Given the description of an element on the screen output the (x, y) to click on. 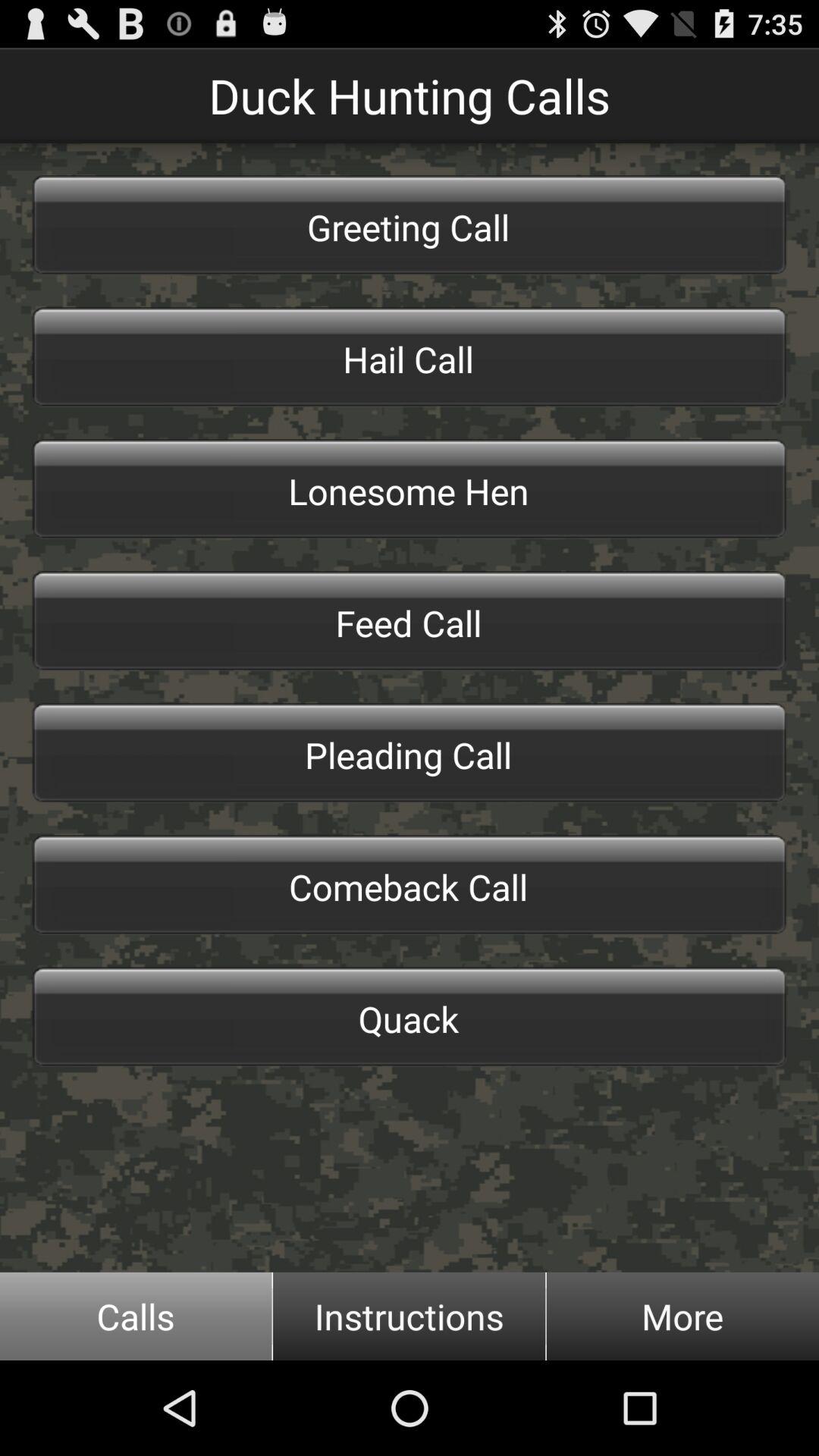
open button below feed call (409, 752)
